Given the description of an element on the screen output the (x, y) to click on. 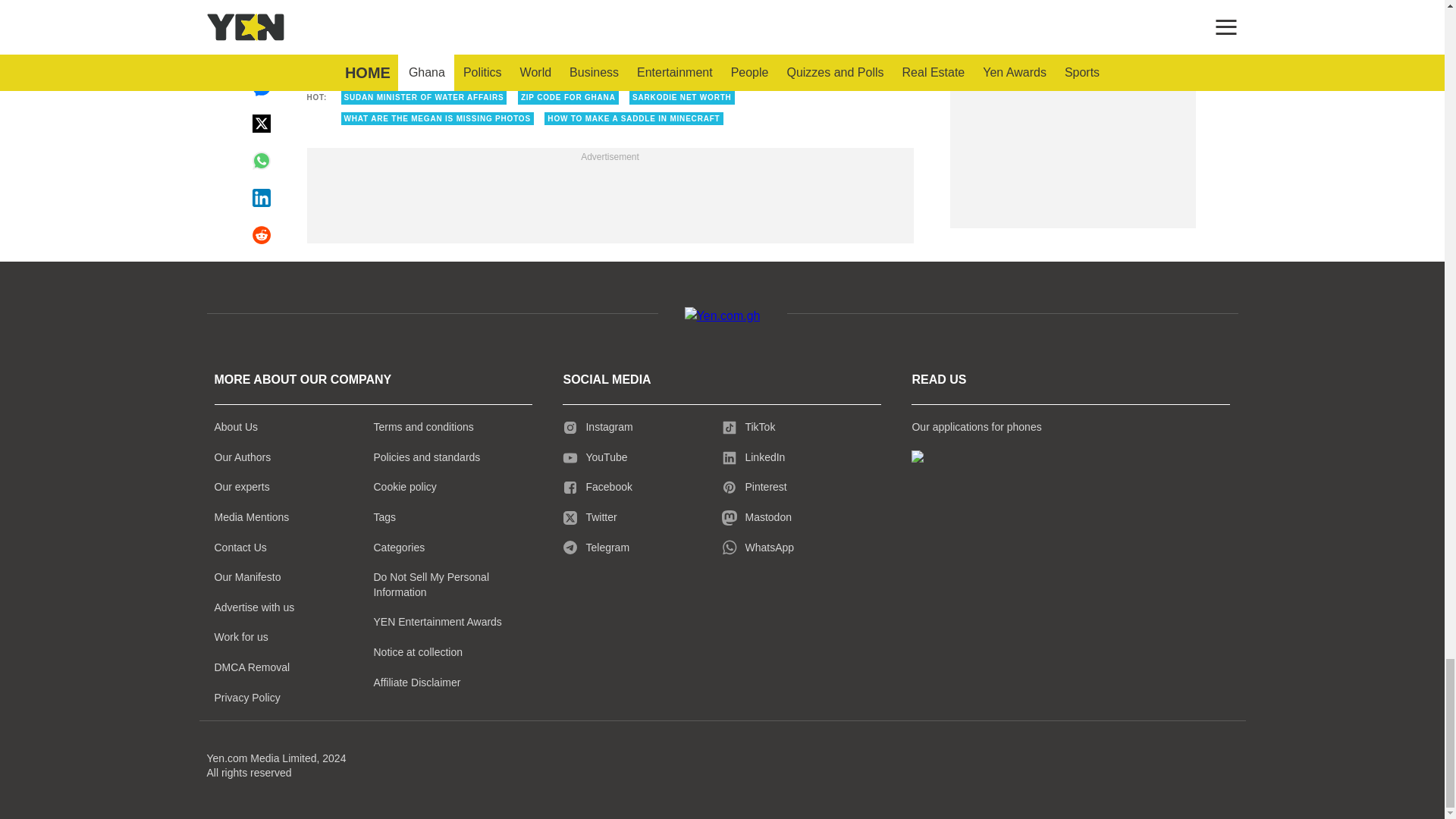
Author page (533, 20)
